Given the description of an element on the screen output the (x, y) to click on. 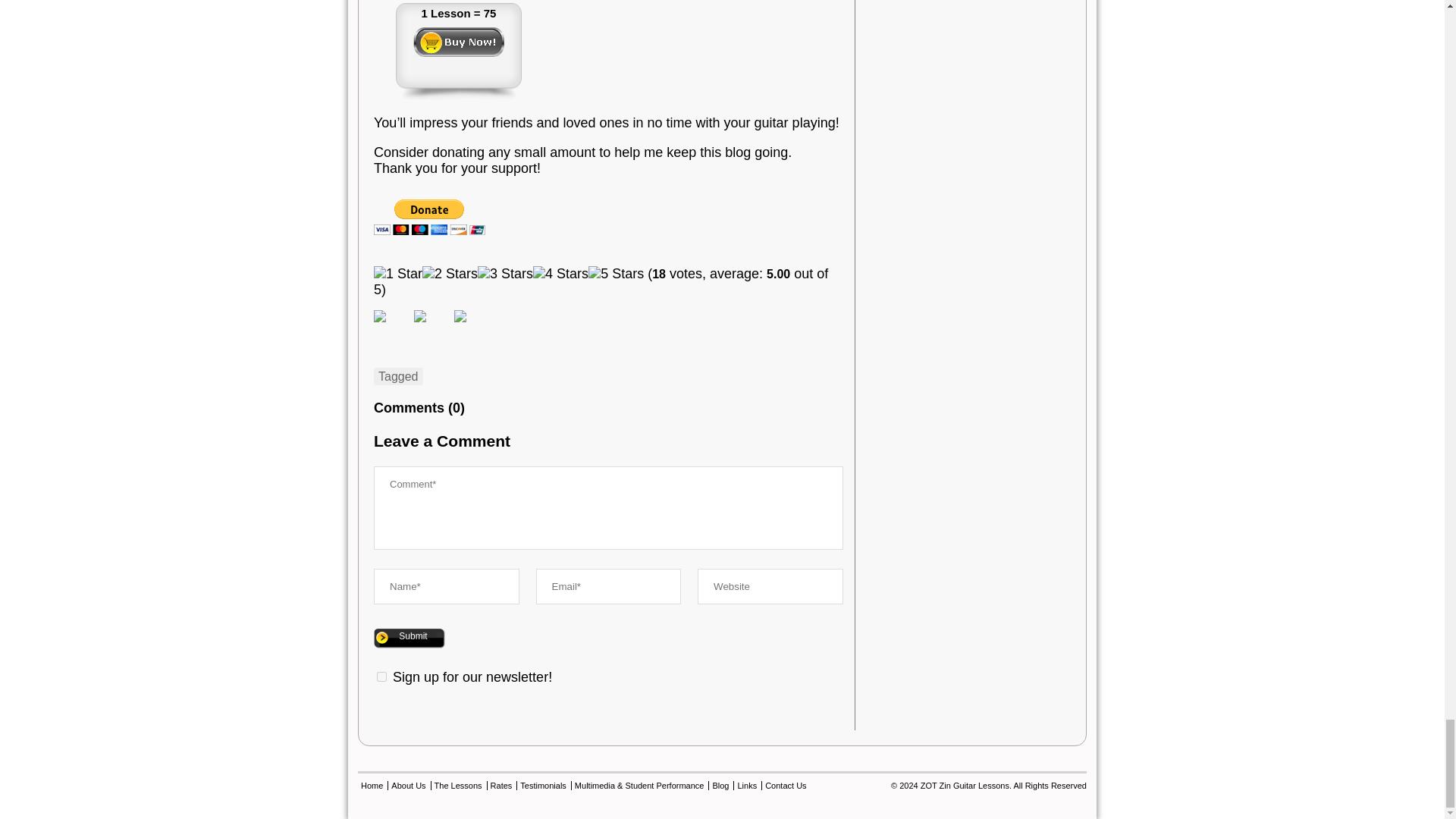
Share on Twitter (431, 328)
1 (382, 676)
5 Stars (615, 273)
1 Star (398, 273)
Share on Twitter (419, 316)
Share on Facebook (379, 316)
Share on Facebook (392, 328)
3 Stars (504, 273)
4 Stars (560, 273)
Share by email (459, 316)
2 Stars (449, 273)
Share by email (472, 328)
Submit (409, 638)
